Given the description of an element on the screen output the (x, y) to click on. 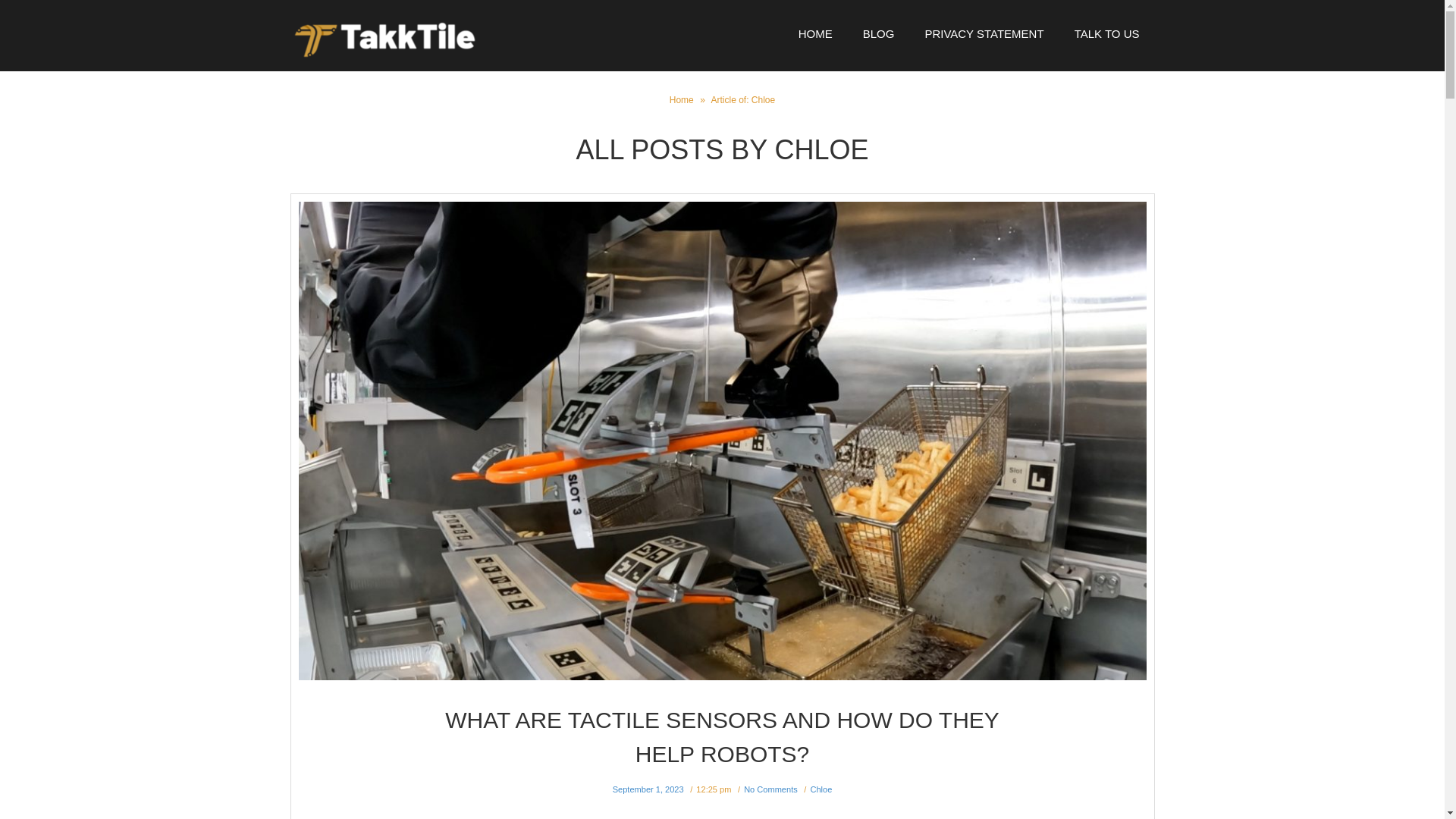
TALK TO US (1106, 33)
PRIVACY STATEMENT (983, 33)
No Comments (770, 788)
September 1, 2023 (648, 788)
BLOG (878, 33)
HOME (815, 33)
Chloe (820, 788)
Home (682, 100)
WHAT ARE TACTILE SENSORS AND HOW DO THEY HELP ROBOTS? (721, 736)
